Given the description of an element on the screen output the (x, y) to click on. 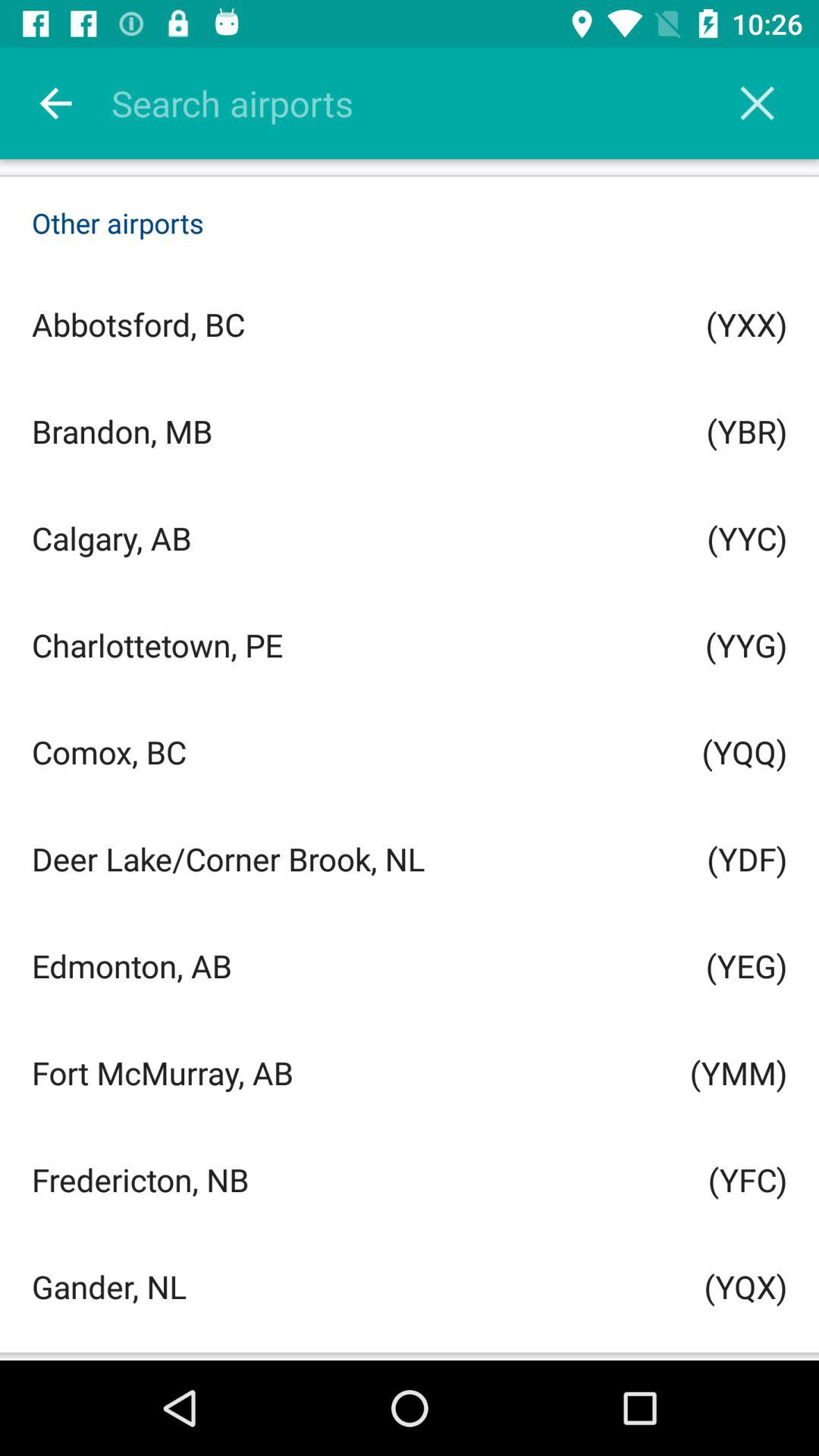
search (429, 103)
